Given the description of an element on the screen output the (x, y) to click on. 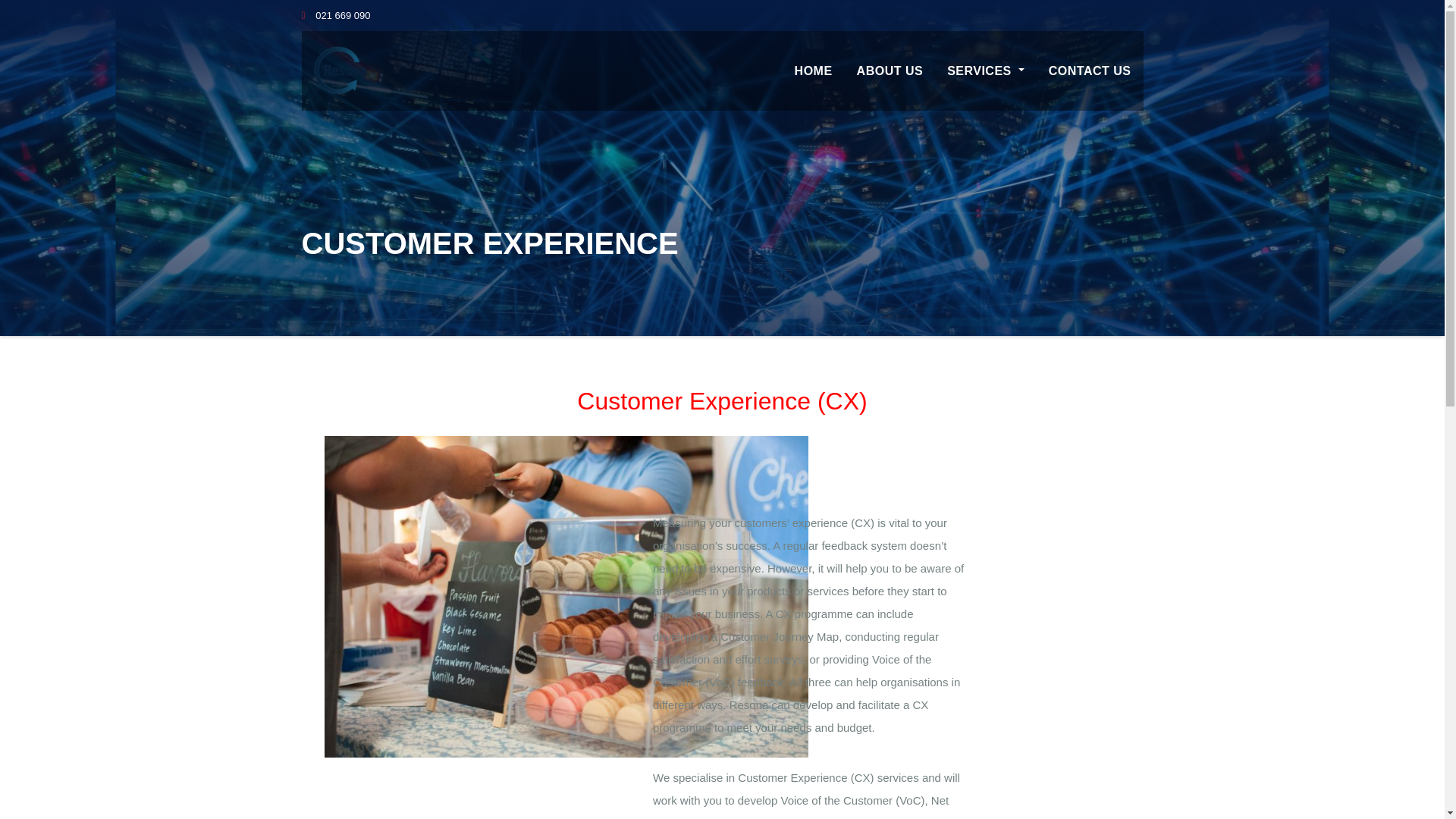
SERVICES (985, 70)
CONTACT US (1089, 70)
SERVICES (985, 70)
ABOUT US (890, 70)
ABOUT US (890, 70)
021 669 090 (336, 15)
CONTACT US (1089, 70)
